Given the description of an element on the screen output the (x, y) to click on. 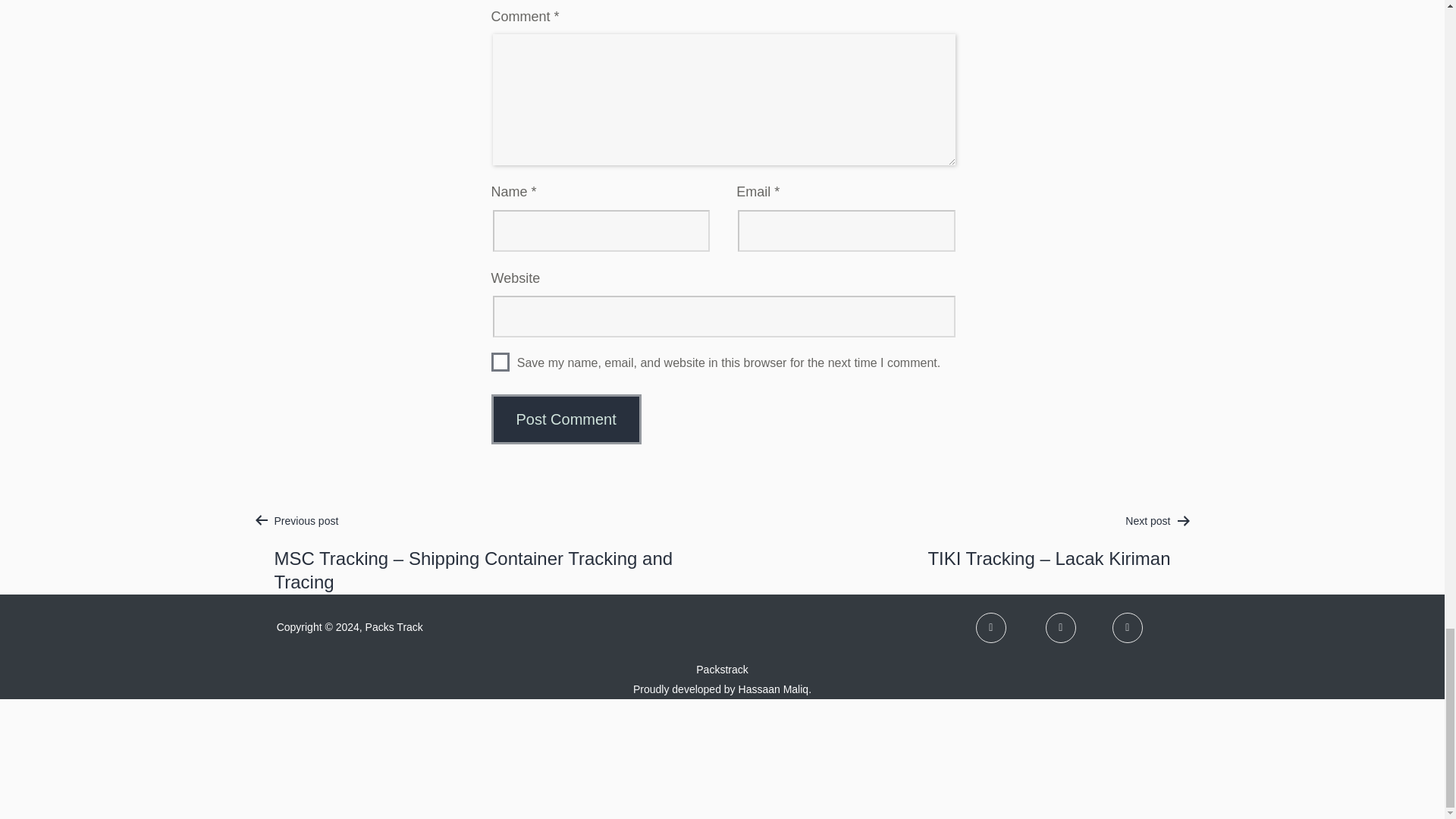
Twitter (1060, 627)
Post Comment (567, 418)
Instagram (1127, 627)
Packstrack (721, 669)
Facebook (990, 627)
Hassaan Maliq (773, 689)
Post Comment (567, 418)
Packs Track (394, 626)
yes (500, 361)
